Given the description of an element on the screen output the (x, y) to click on. 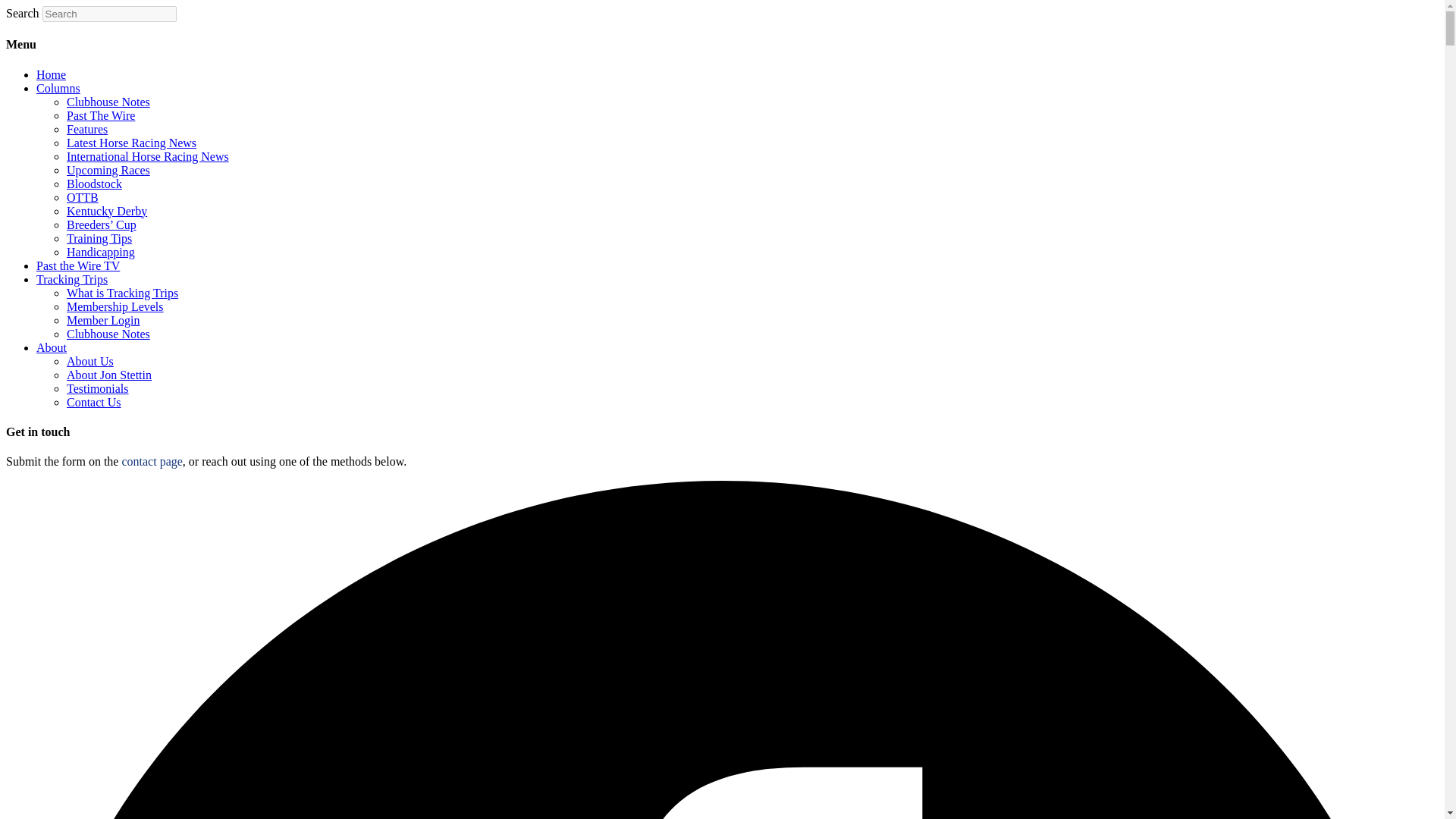
Home (50, 74)
Bloodstock (94, 183)
International Horse Racing News (147, 155)
About (51, 347)
Latest Horse Racing News (131, 142)
About Us (89, 360)
Past the Wire TV (77, 265)
Testimonials (97, 388)
Membership Levels (114, 306)
Training Tips (99, 237)
Upcoming Races (107, 169)
What is Tracking Trips (121, 292)
Clubhouse Notes (107, 333)
Past The Wire (100, 115)
Columns (58, 88)
